Given the description of an element on the screen output the (x, y) to click on. 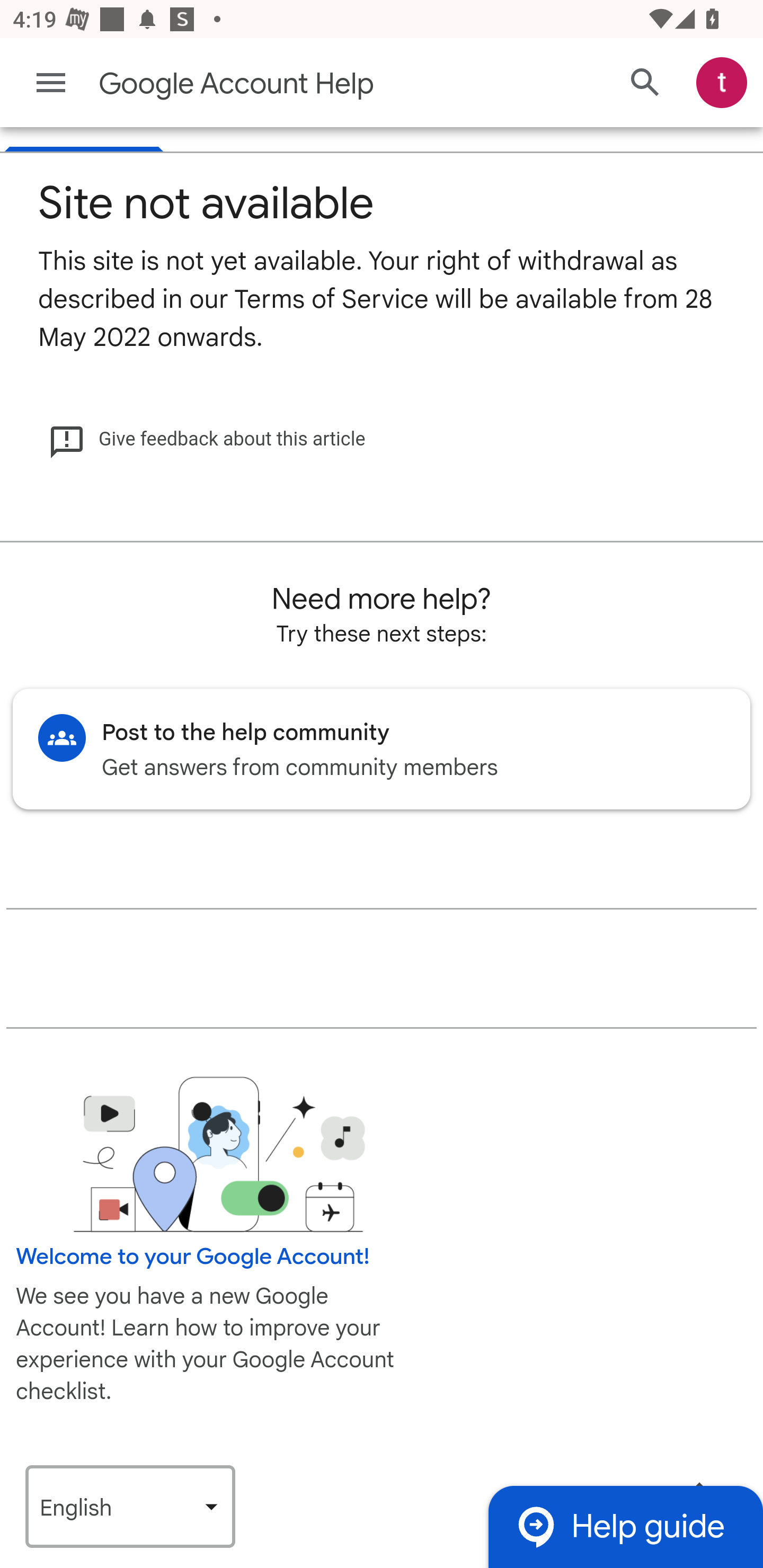
Main menu (50, 82)
Google Account Help (311, 84)
Search Help Center (645, 82)
Give feedback about this article (206, 439)
Learning Center home page image (219, 1156)
Welcome to your Google Account! (193, 1258)
Language (English‎) (130, 1506)
Help guide (625, 1527)
